Given the description of an element on the screen output the (x, y) to click on. 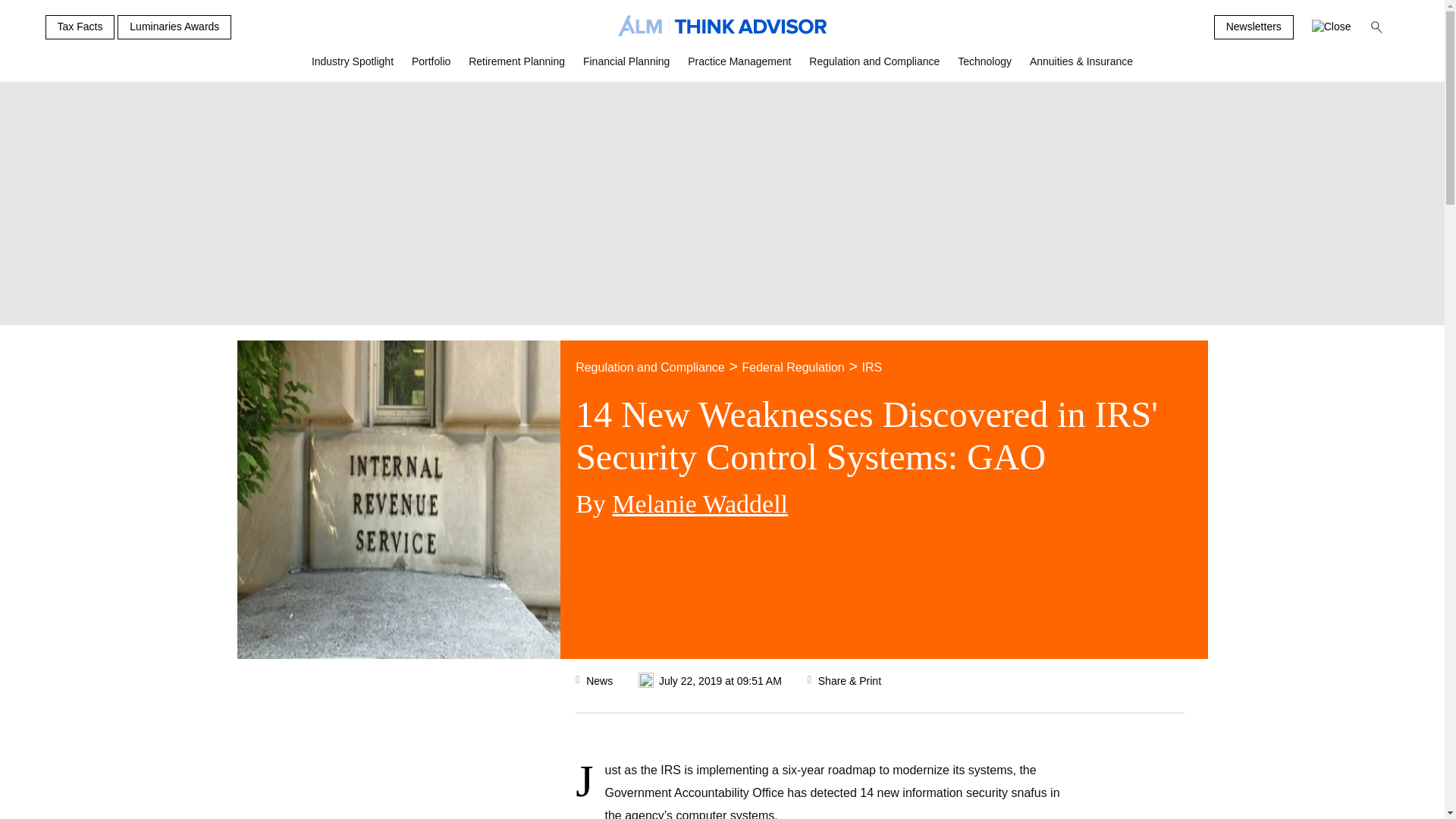
Industry Spotlight (352, 67)
Tax Facts (80, 27)
Luminaries Awards (174, 27)
Newsletters (1254, 27)
